Given the description of an element on the screen output the (x, y) to click on. 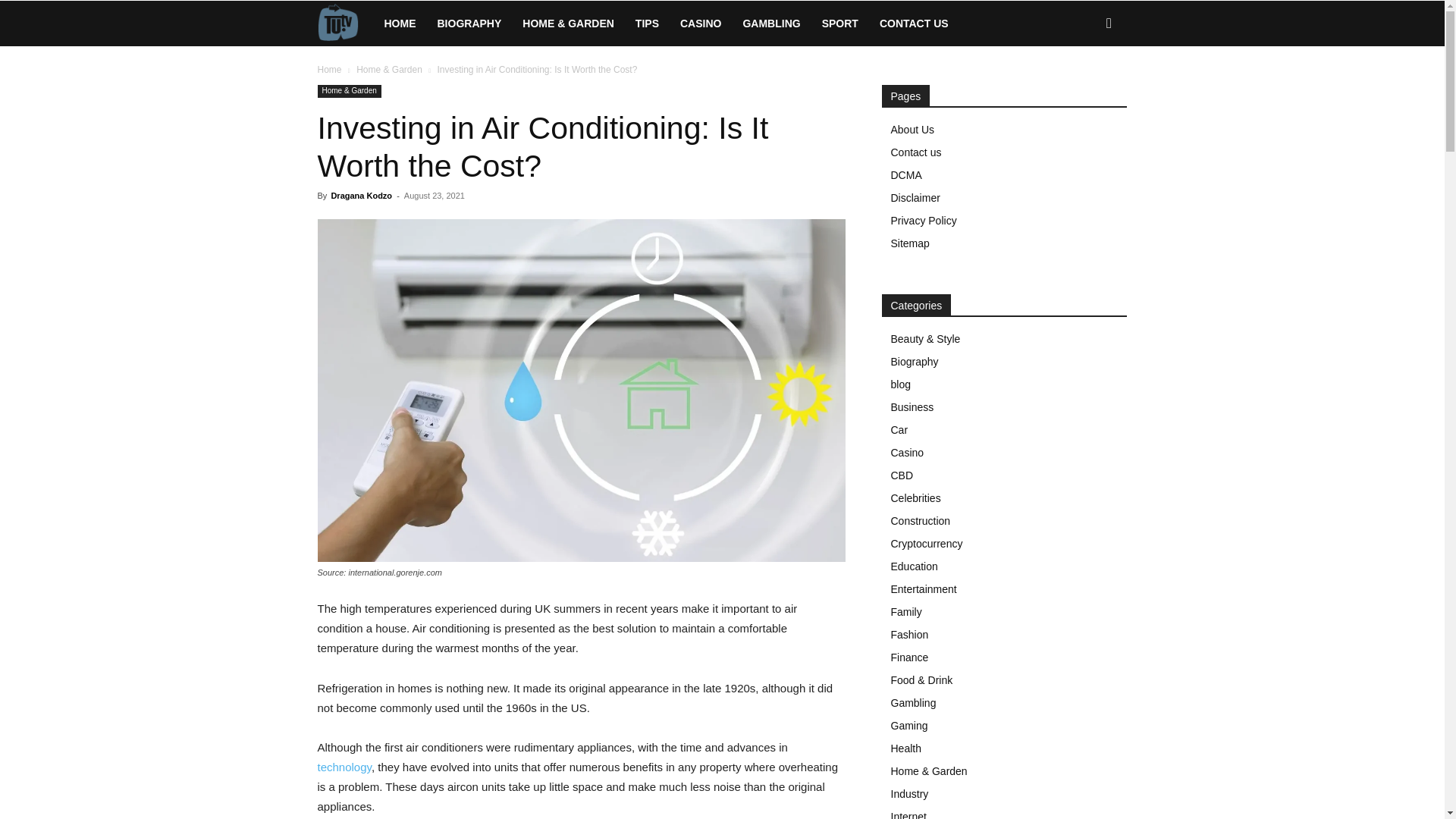
GAMBLING (771, 22)
Search (1085, 88)
Home (328, 69)
Dragana Kodzo (360, 194)
Tu.tv (344, 23)
HOME (399, 22)
TIPS (646, 22)
SPORT (839, 22)
CASINO (700, 22)
